Given the description of an element on the screen output the (x, y) to click on. 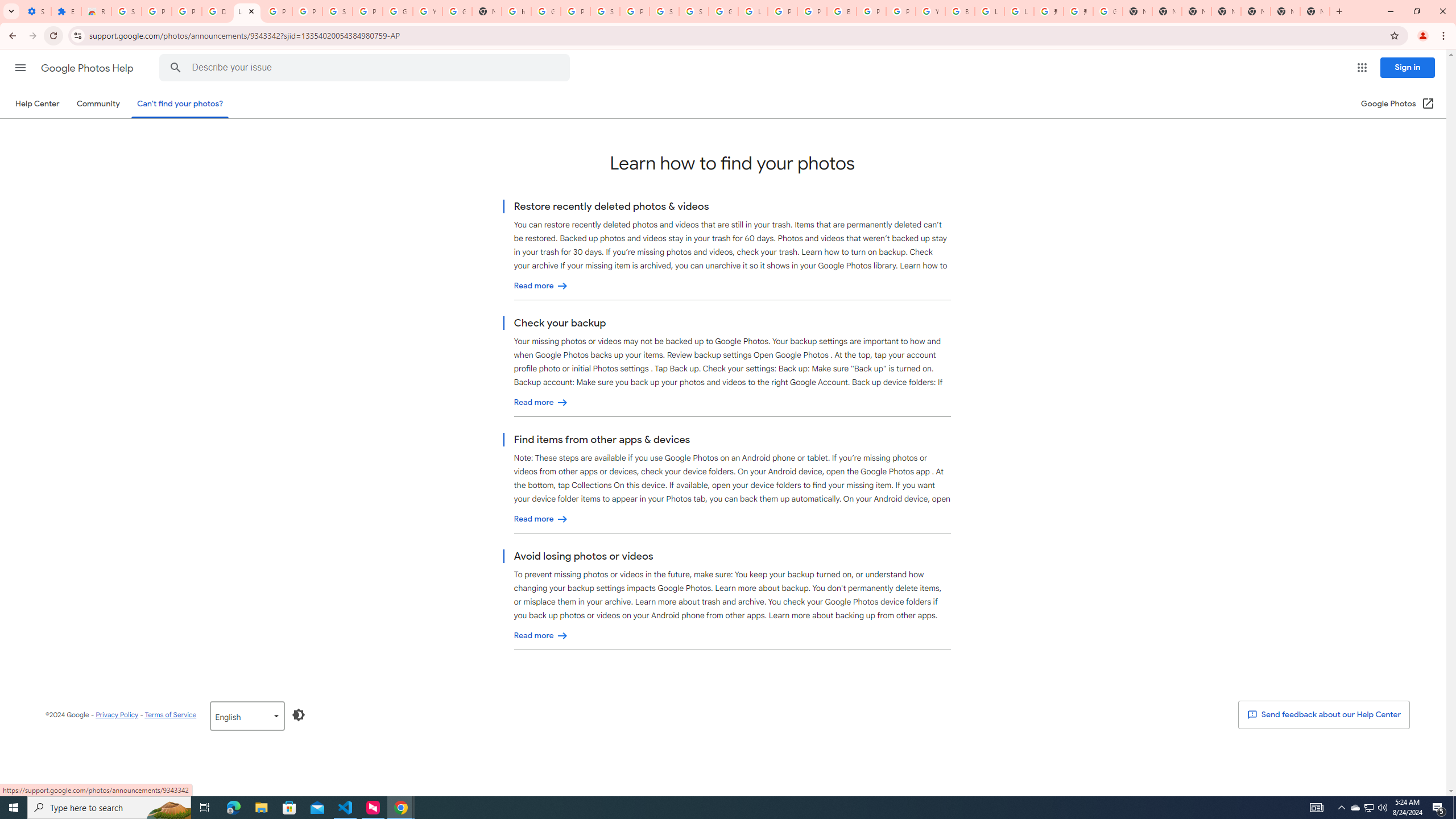
Google Images (1107, 11)
Delete photos & videos - Computer - Google Photos Help (216, 11)
Google Photos Help (87, 68)
Settings - On startup (36, 11)
YouTube (930, 11)
Privacy Help Center - Policies Help (811, 11)
